Given the description of an element on the screen output the (x, y) to click on. 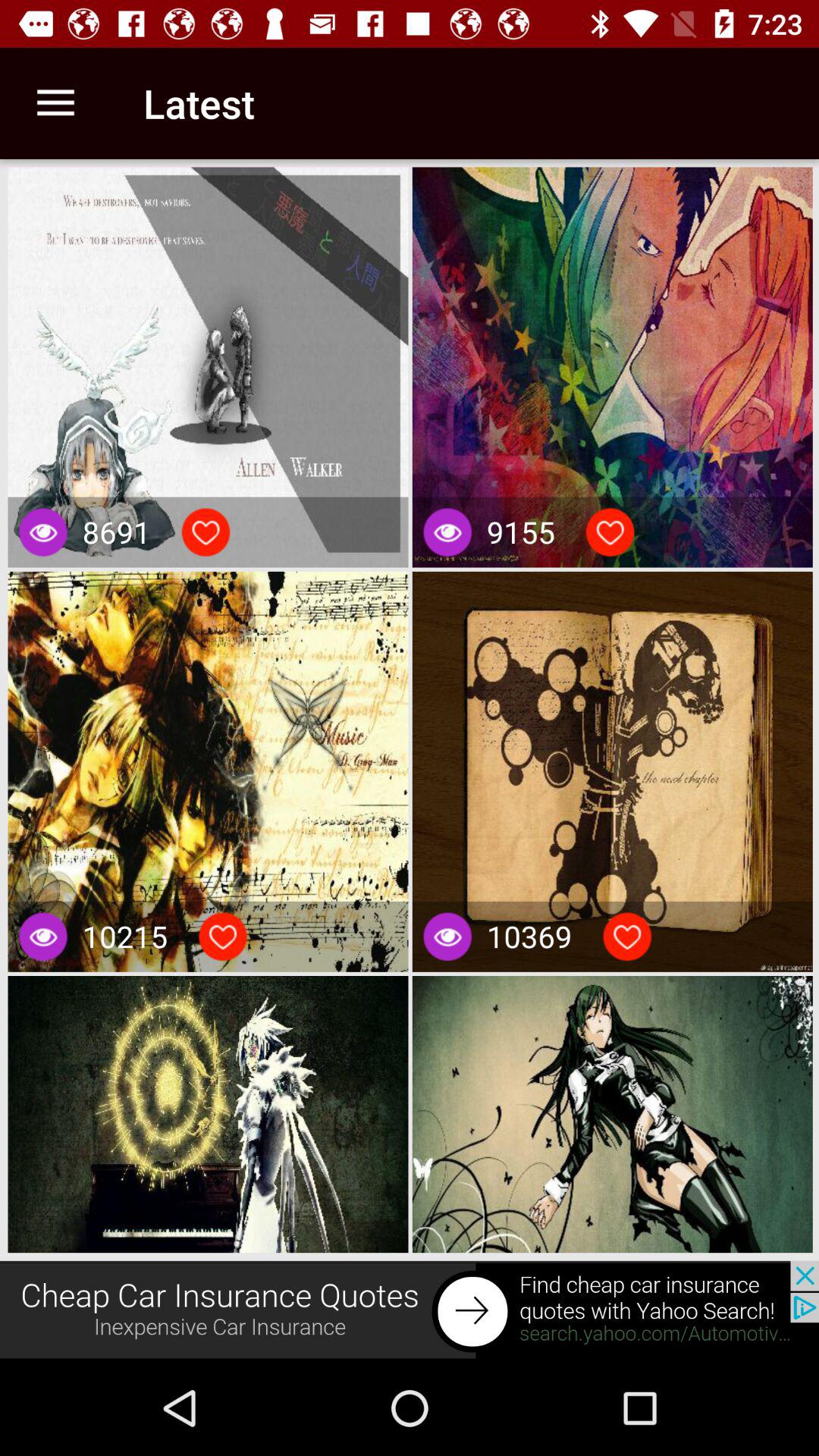
add to favorite (222, 936)
